Given the description of an element on the screen output the (x, y) to click on. 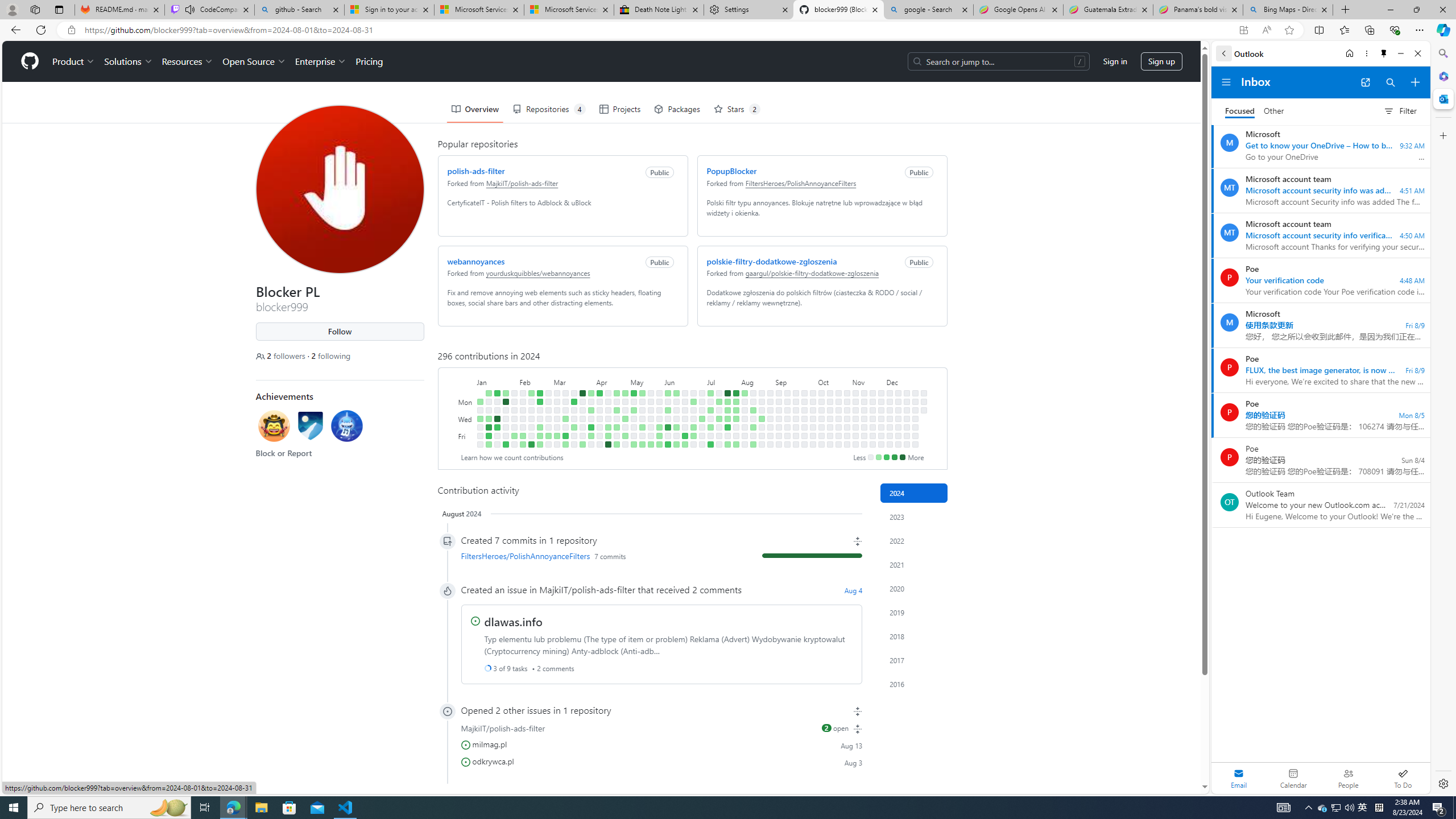
No contributions on November 4th. (855, 401)
2 contributions on April 23rd. (616, 410)
No contributions on December 19th. (906, 427)
No contributions on August 25th. (770, 392)
No contributions on September 6th. (777, 435)
No contributions on August 23rd. (761, 435)
No contributions on August 1st. (735, 427)
No contributions on December 17th. (906, 410)
No contributions on June 10th. (675, 401)
No contributions on June 30th. (701, 392)
Selected mail module (1238, 777)
No contributions on November 3rd. (855, 392)
1 contribution on February 22nd. (539, 427)
